Given the description of an element on the screen output the (x, y) to click on. 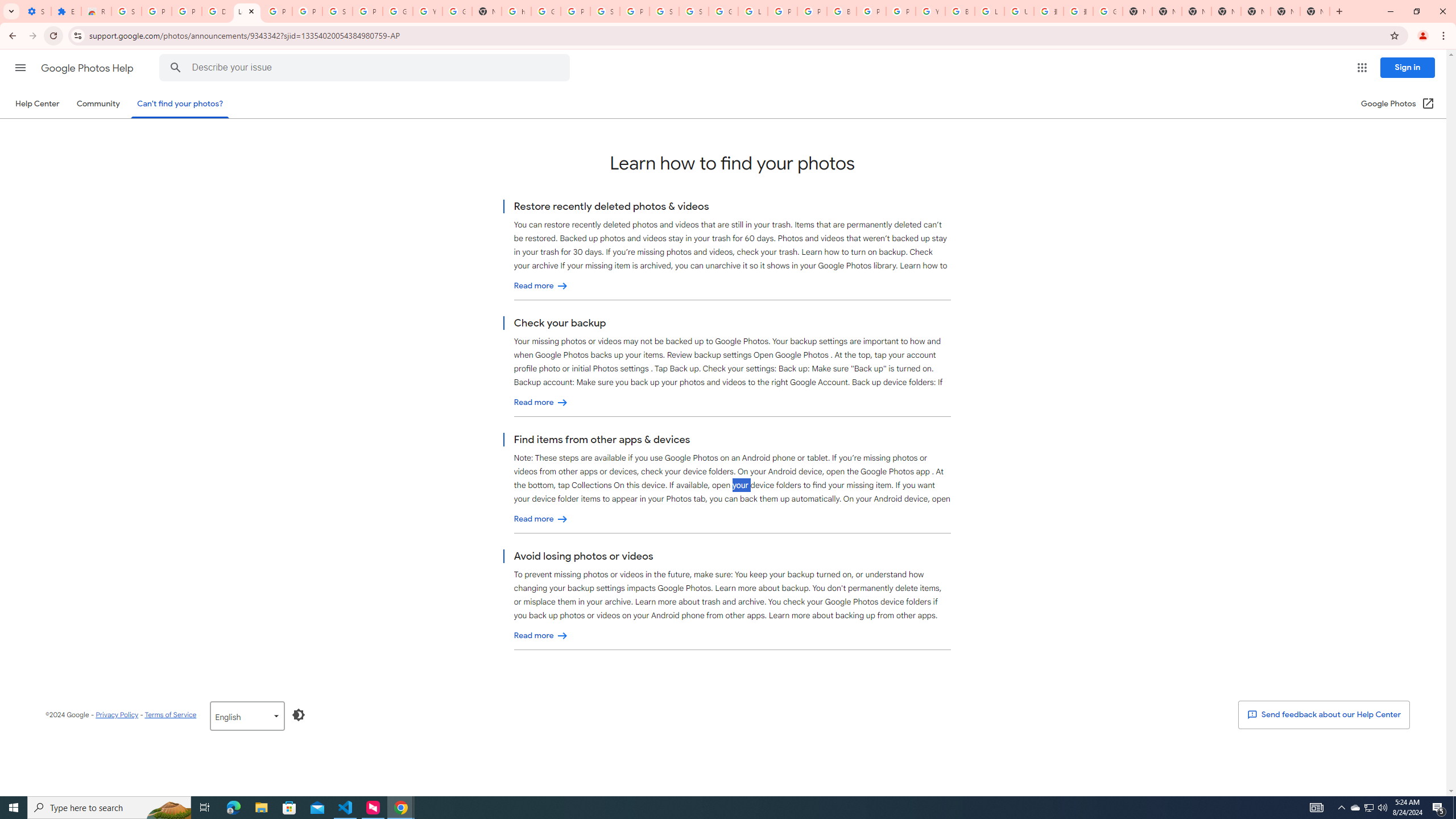
Settings - On startup (36, 11)
Check your backup (541, 402)
Sign in - Google Accounts (604, 11)
New Tab (1314, 11)
Sign in - Google Accounts (126, 11)
New Tab (1226, 11)
